Given the description of an element on the screen output the (x, y) to click on. 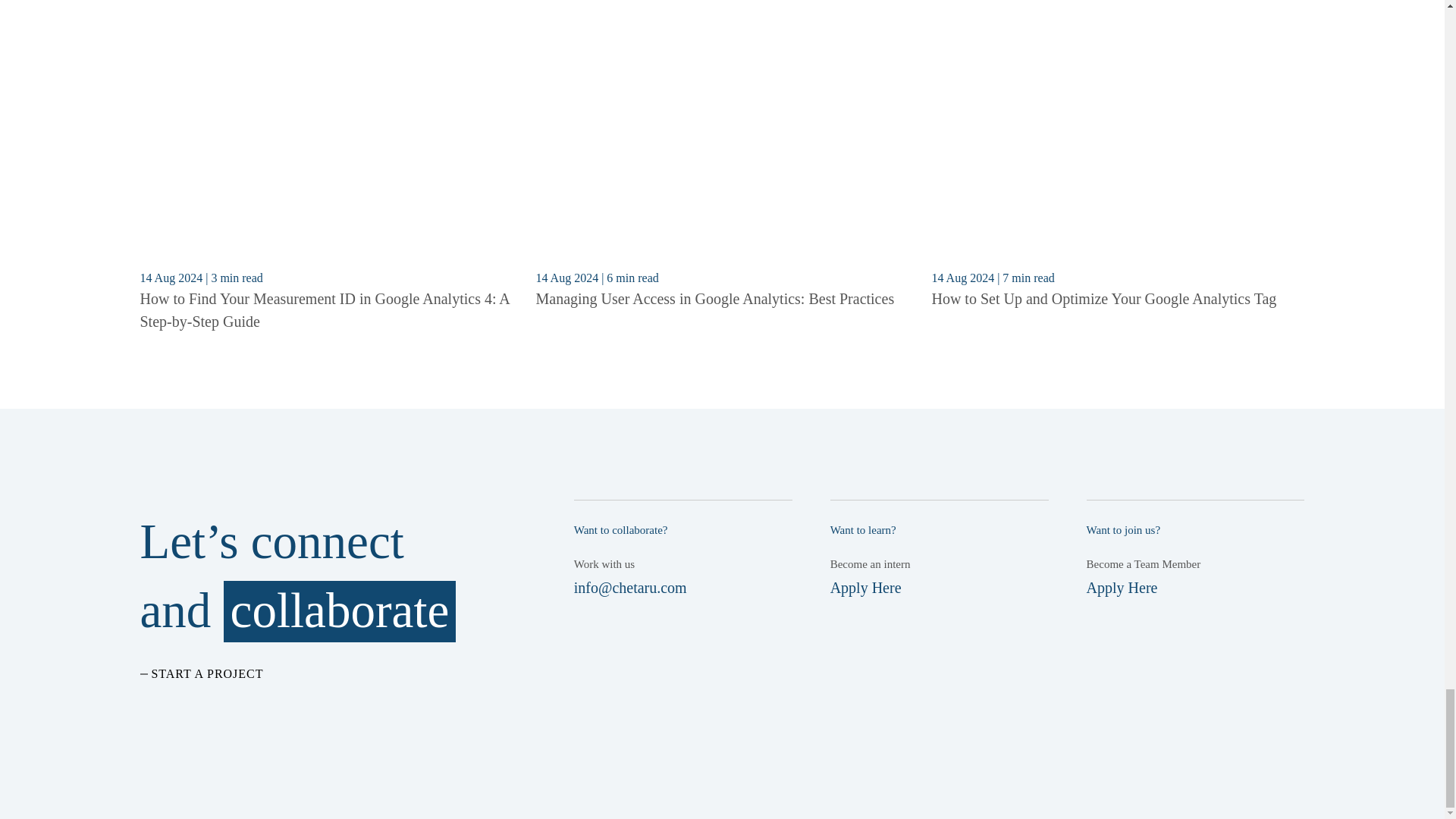
How to Set Up and Optimize Your Google Analytics Tag (1103, 298)
Apply Here (865, 587)
Apply Here (1121, 587)
START A PROJECT (201, 673)
Managing User Access in Google Analytics: Best Practices (714, 298)
